Given the description of an element on the screen output the (x, y) to click on. 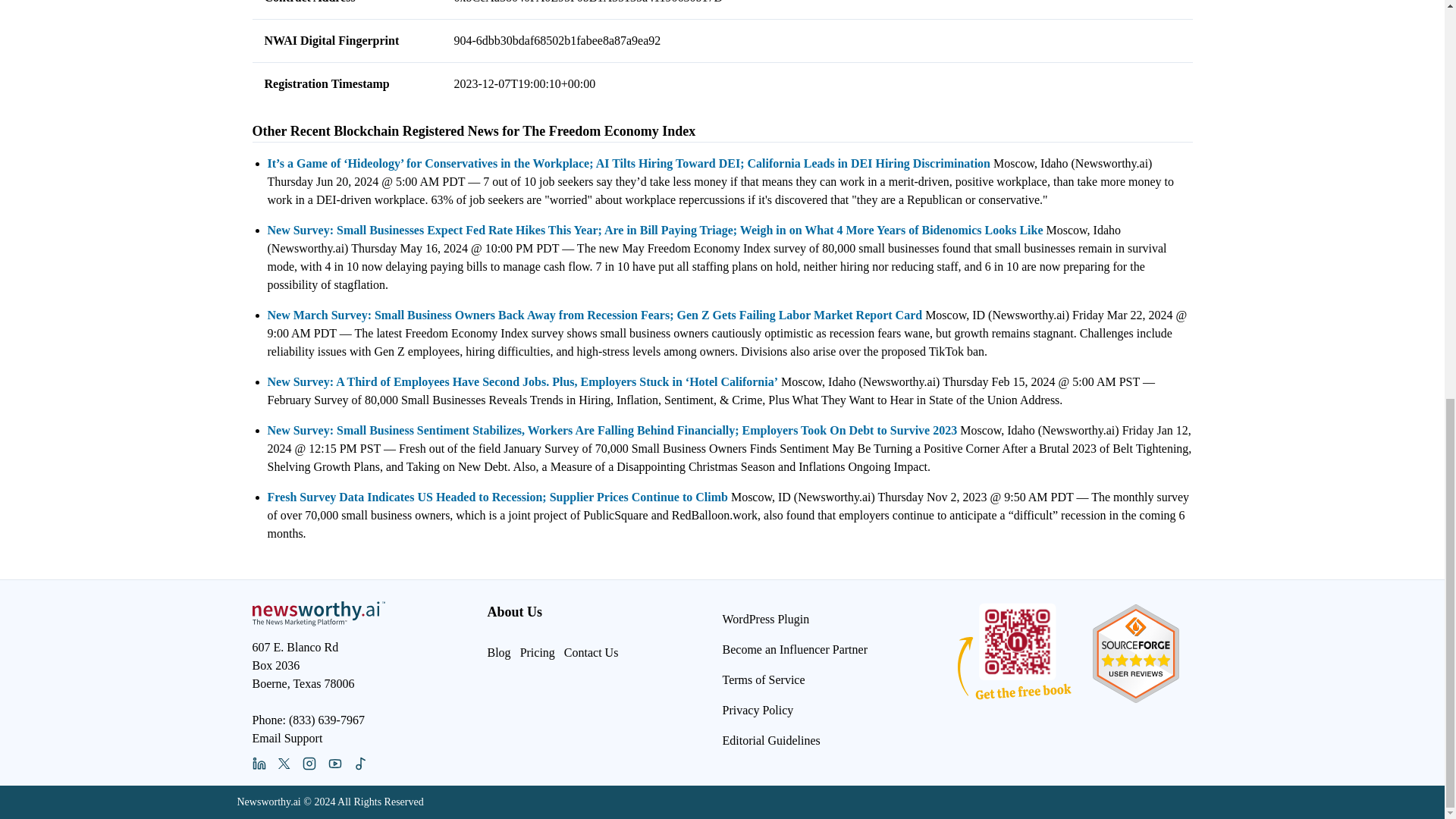
Contact Us (591, 652)
WordPress Plugin (765, 623)
Blog (498, 652)
Pricing (536, 652)
Email Support (286, 738)
Become an Influencer Partner (794, 649)
Newsworthy on Youtube (333, 763)
Newsworthy on Twitter (283, 763)
Newsworthy on LinkedIn (257, 763)
Newsworthy on Instagram (308, 763)
Newsworthy.ai Reviews (1135, 648)
